Given the description of an element on the screen output the (x, y) to click on. 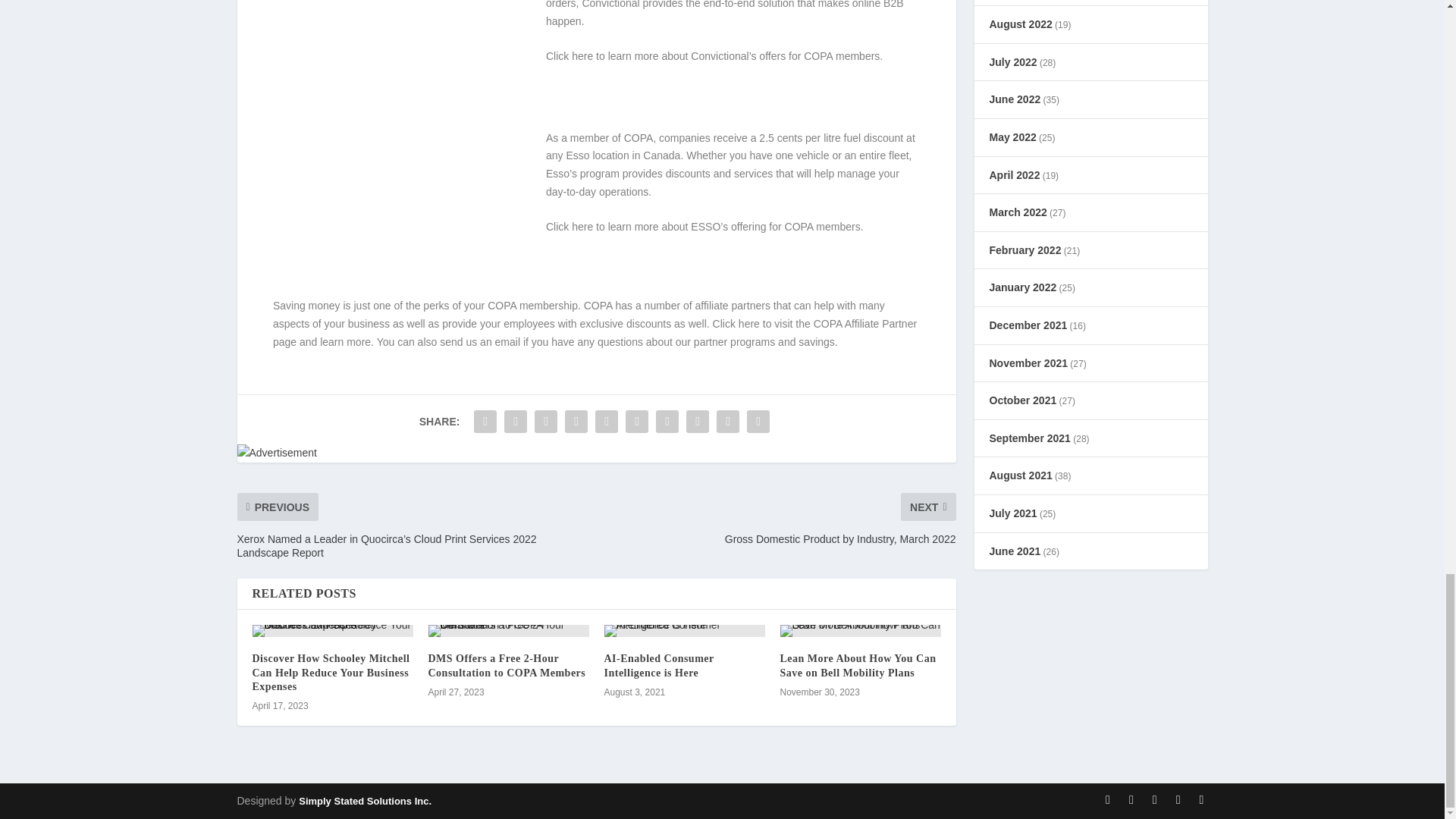
send us an email (479, 341)
DMS Offers a Free 2-Hour Consultation to COPA Members (506, 665)
